Given the description of an element on the screen output the (x, y) to click on. 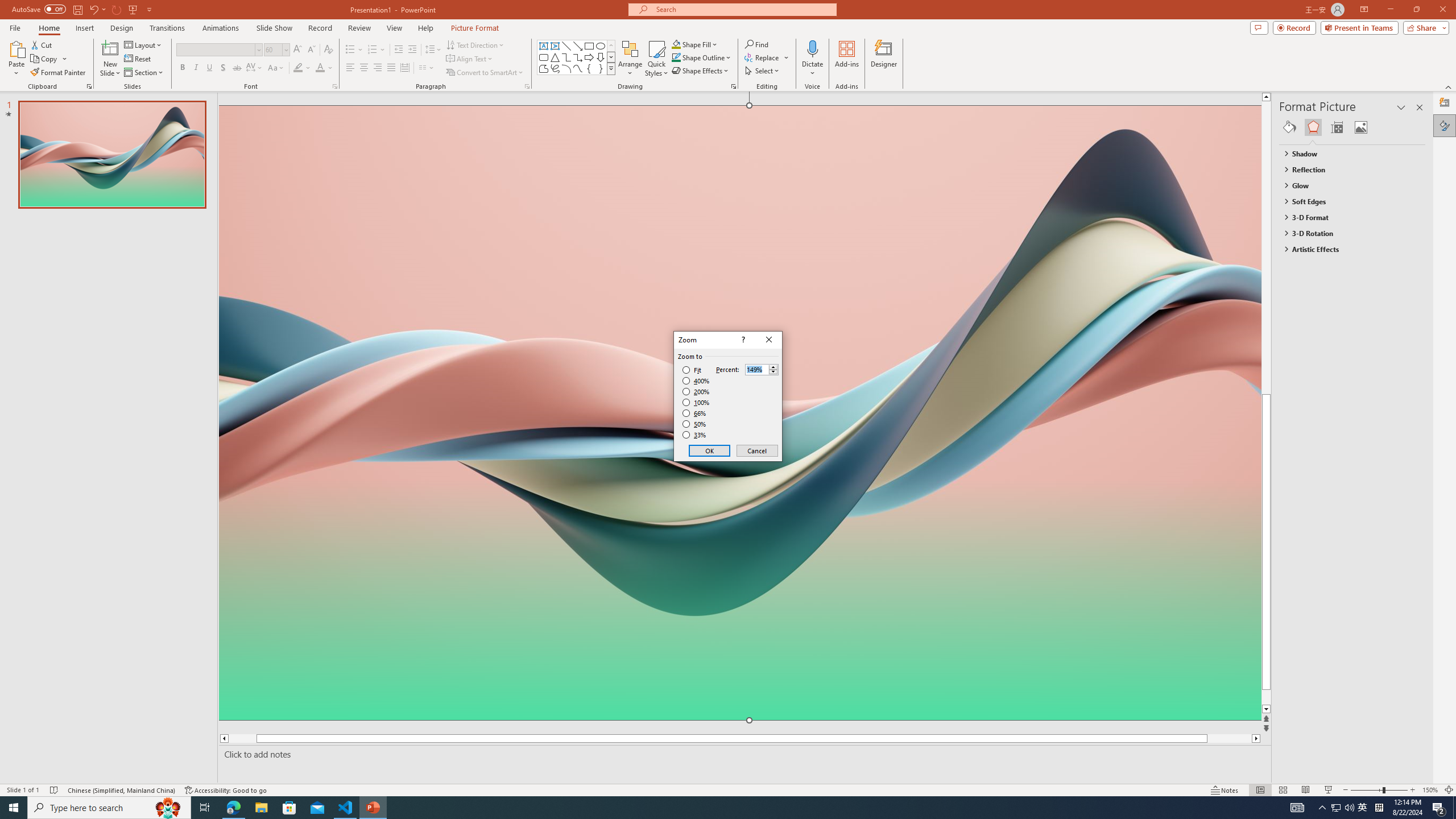
Paragraph... (526, 85)
Align Left (349, 67)
100% (696, 402)
Shape Effects (700, 69)
Left Brace (589, 68)
Freeform: Scribble (554, 68)
Format Object... (733, 85)
Less (772, 372)
Italic (195, 67)
Class: NetUIScrollBar (1420, 460)
Arrow: Down (600, 57)
Replace... (767, 56)
Running applications (707, 807)
New Slide (110, 58)
Picture (1361, 126)
